Given the description of an element on the screen output the (x, y) to click on. 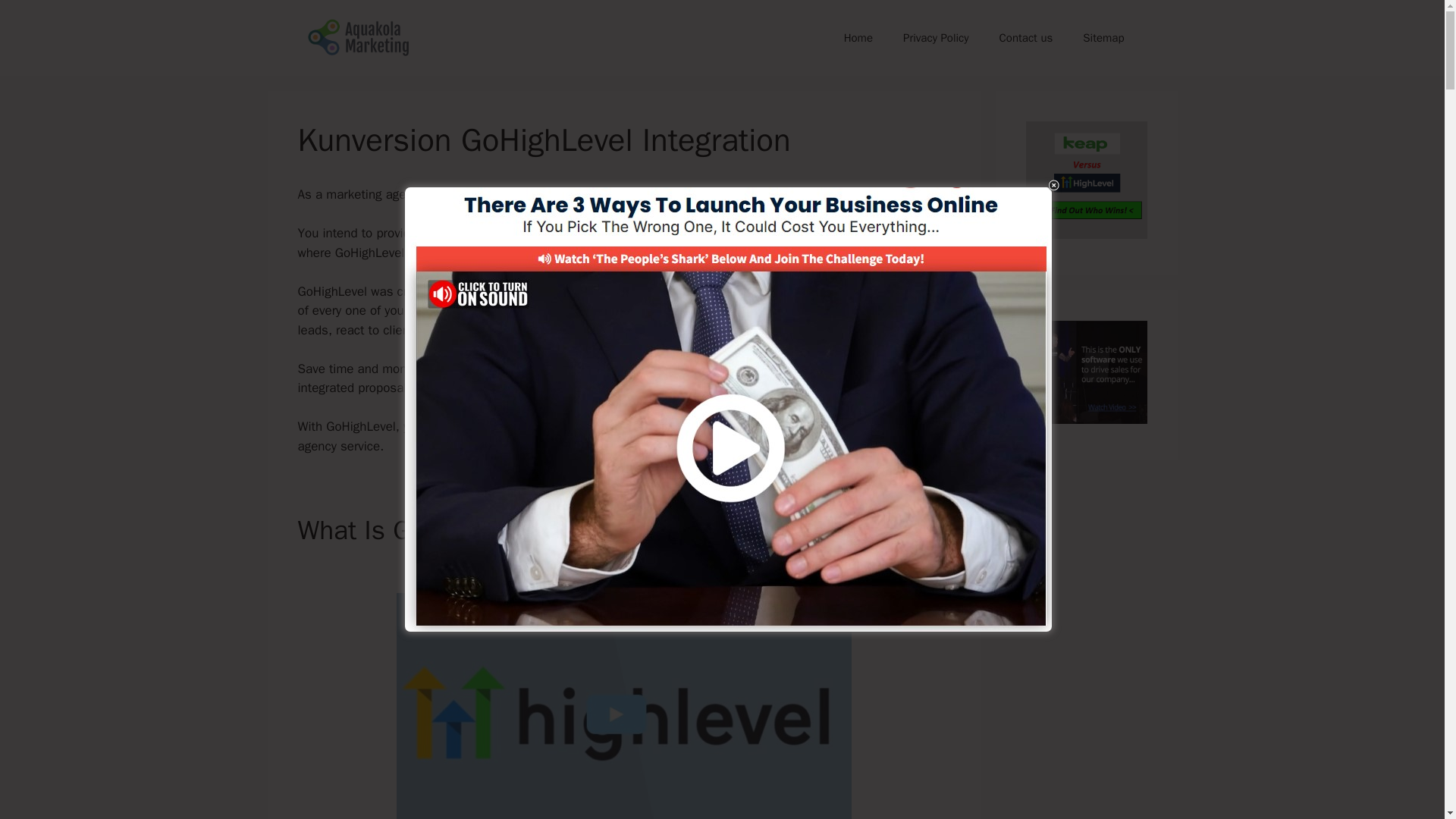
Sitemap (1102, 37)
Contact us (1026, 37)
Home (858, 37)
Privacy Policy (936, 37)
